Given the description of an element on the screen output the (x, y) to click on. 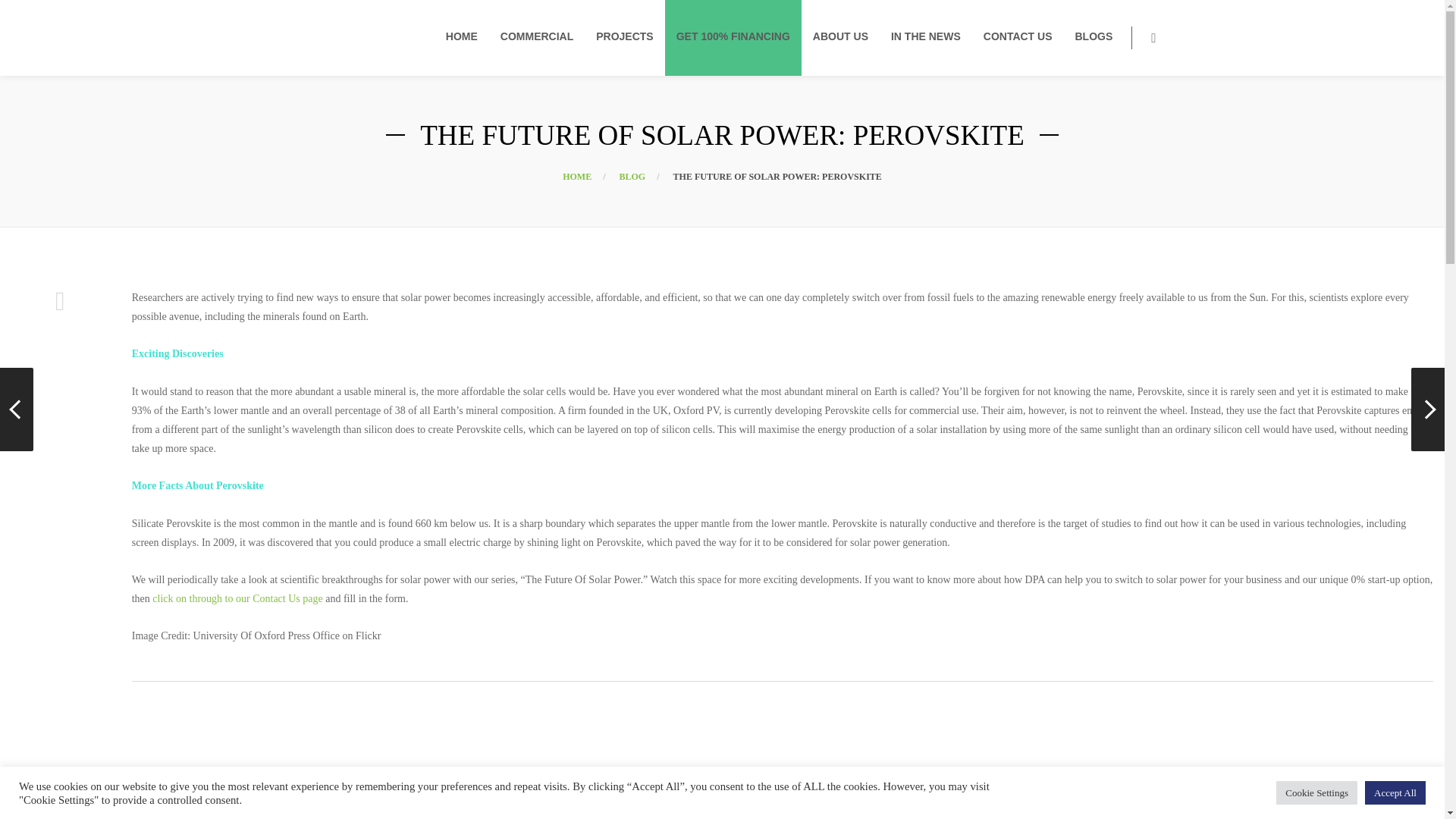
CONTACT US (1018, 37)
BLOG (633, 176)
COMMERCIAL (536, 37)
BLOGS (1094, 37)
IN THE NEWS (925, 37)
IN THE NEWS (925, 37)
HOME (461, 37)
click on through to our Contact Us page (236, 598)
HOME (576, 176)
PROJECTS (623, 37)
ABOUT US (839, 37)
